Given the description of an element on the screen output the (x, y) to click on. 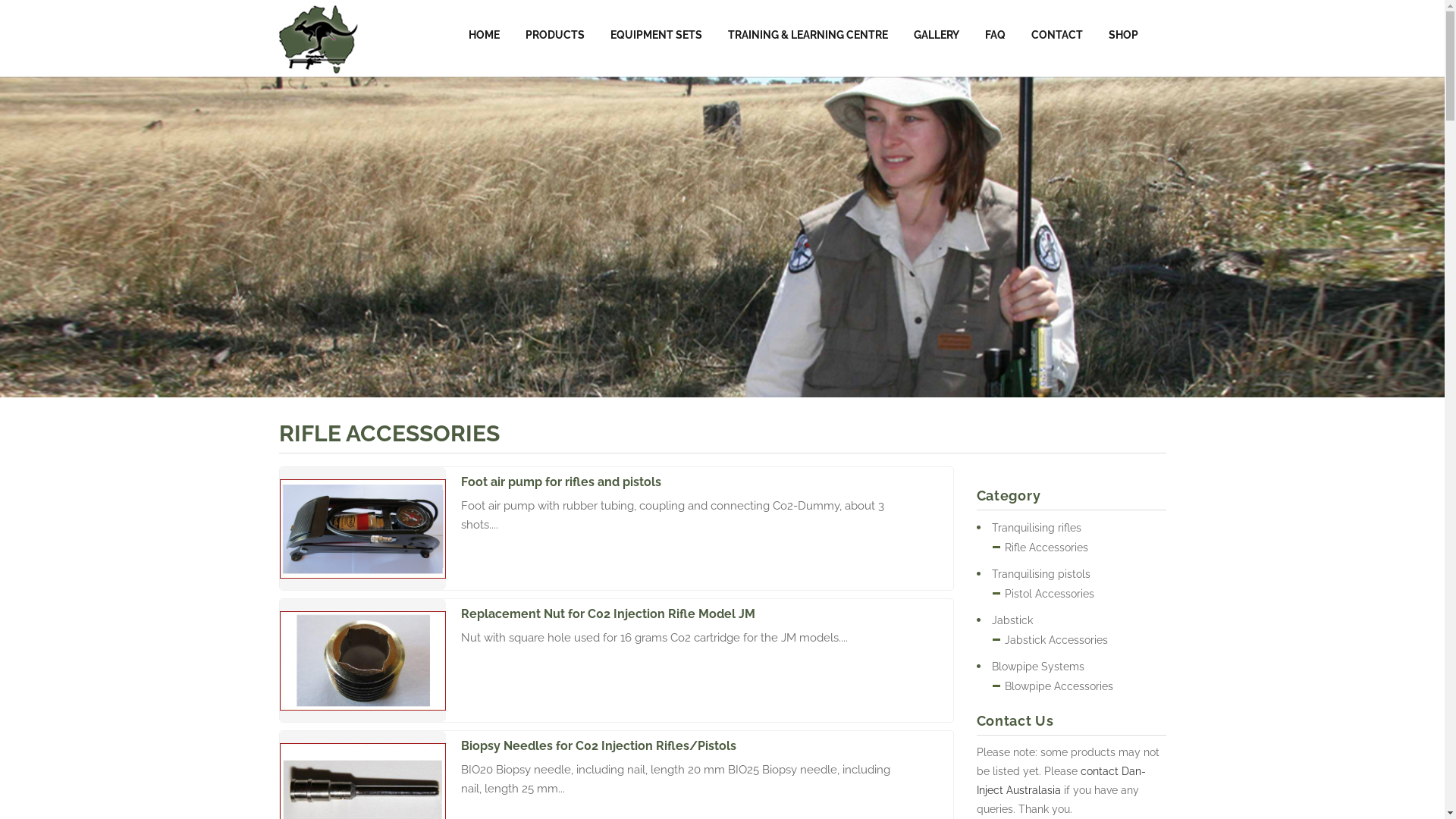
GALLERY Element type: text (936, 34)
FAQ Element type: text (994, 34)
Blowpipe Accessories Element type: text (1051, 685)
Pistol Accessories Element type: text (1042, 593)
Dan-Inject Element type: hover (318, 37)
TRAINING & LEARNING CENTRE Element type: text (806, 34)
PRODUCTS Element type: text (555, 34)
HOME Element type: text (483, 34)
contact Dan-Inject Australasia Element type: text (1060, 780)
Rifle Accessories Element type: text (1039, 547)
EQUIPMENT SETS Element type: text (656, 34)
Tranquilising pistols Element type: text (1033, 574)
Jabstick Accessories Element type: text (1049, 639)
Jabstick Element type: text (1004, 620)
Blowpipe Systems Element type: text (1030, 666)
Foot air pump for rifles and pistols Element type: text (686, 481)
Replacement Nut for C02 Injection Rifle Model JM Element type: text (686, 613)
SHOP Element type: text (1122, 34)
Biopsy Needles for C02 Injection Rifles/Pistols Element type: text (686, 745)
CONTACT Element type: text (1056, 34)
Tranquilising rifles Element type: text (1028, 527)
